Given the description of an element on the screen output the (x, y) to click on. 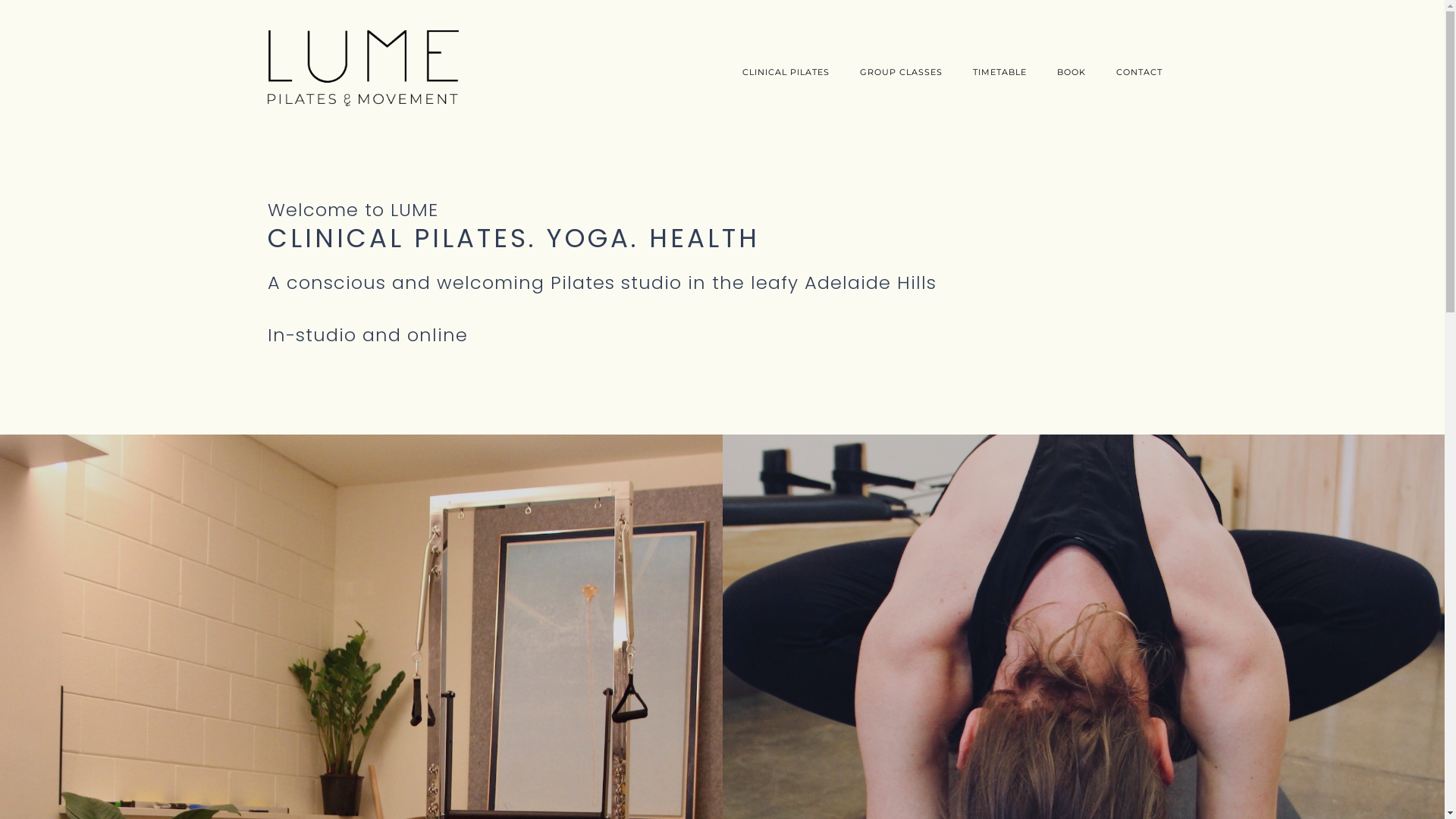
CONTACT Element type: text (1139, 71)
TIMETABLE Element type: text (999, 71)
GROUP CLASSES Element type: text (900, 71)
BOOK Element type: text (1071, 71)
CLINICAL PILATES Element type: text (785, 71)
